Given the description of an element on the screen output the (x, y) to click on. 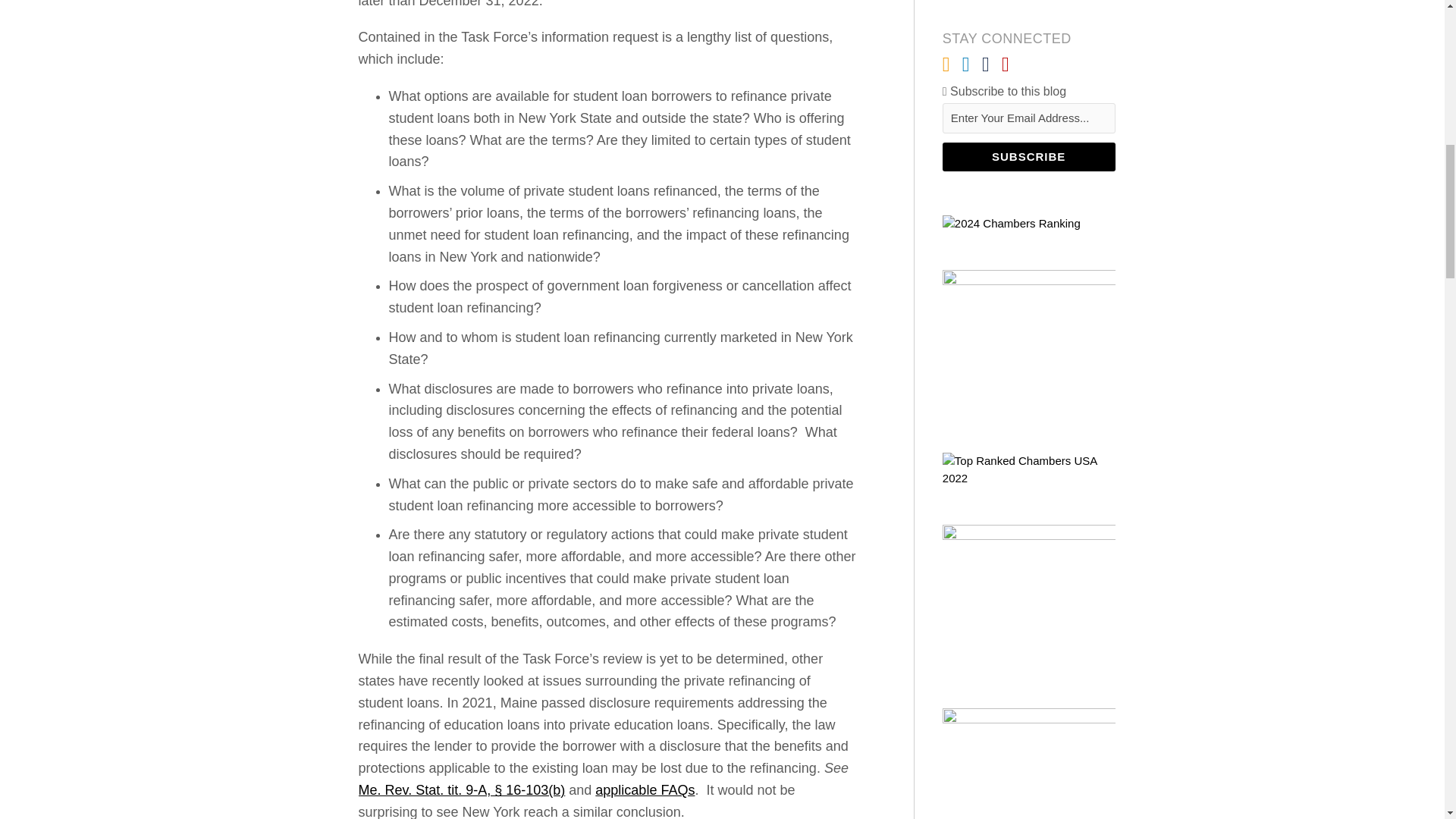
Subscribe (1028, 156)
applicable FAQs (644, 789)
